Given the description of an element on the screen output the (x, y) to click on. 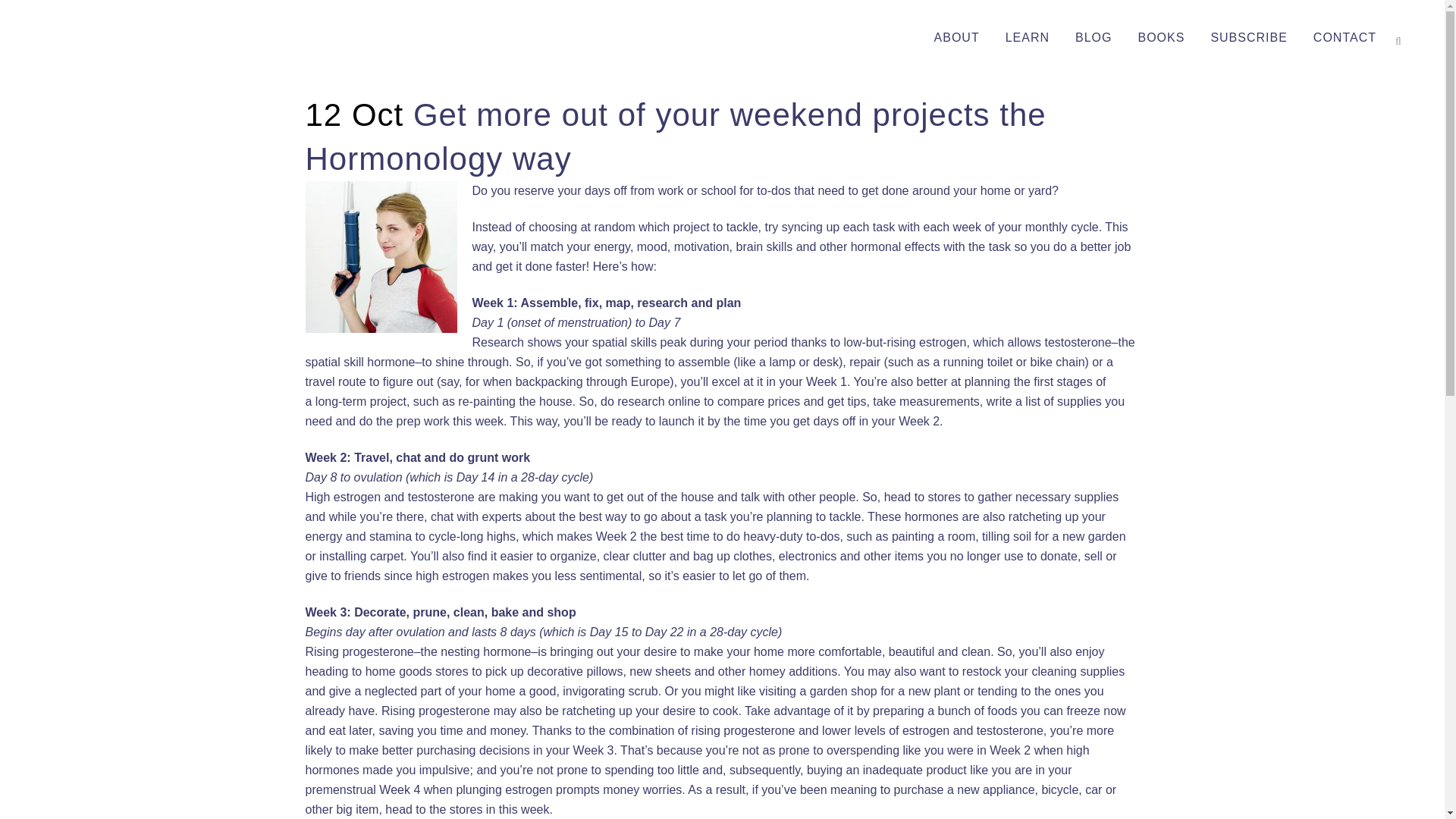
CONTACT (1344, 38)
ABOUT (956, 38)
LEARN (1027, 38)
SUBSCRIBE (1248, 38)
BOOKS (1160, 38)
